Given the description of an element on the screen output the (x, y) to click on. 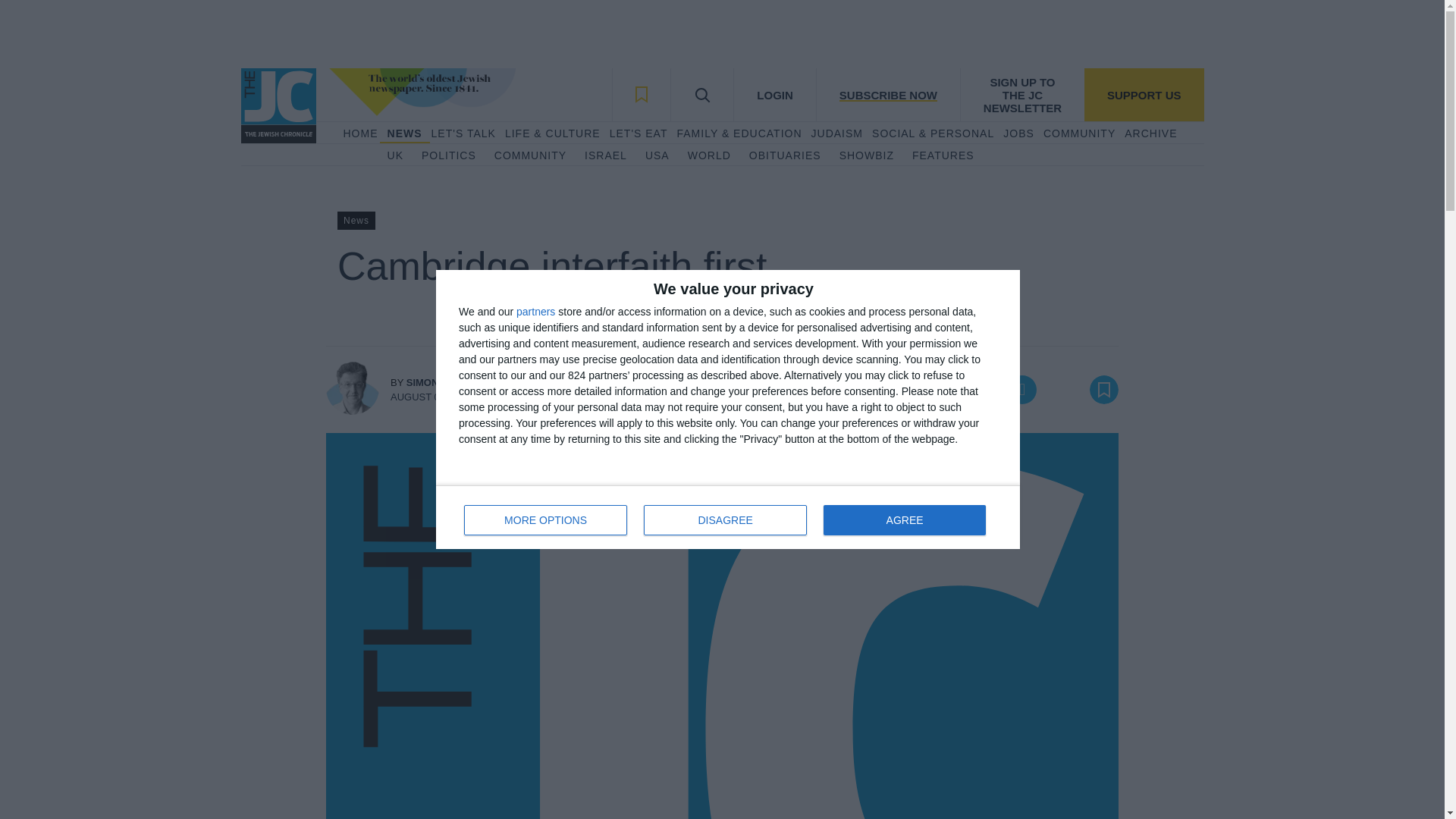
MORE OPTIONS (545, 520)
ARCHIVE (1150, 133)
SUPPORT US (1144, 94)
SIGN UP TO THE JC NEWSLETTER (1021, 94)
HOME (359, 133)
AGREE (904, 520)
FEATURES (943, 155)
UK (727, 516)
LOGIN (395, 155)
LET'S EAT (774, 94)
COMMUNITY (639, 133)
DISAGREE (530, 155)
ISRAEL (724, 520)
SUBSCRIBE NOW (606, 155)
